Given the description of an element on the screen output the (x, y) to click on. 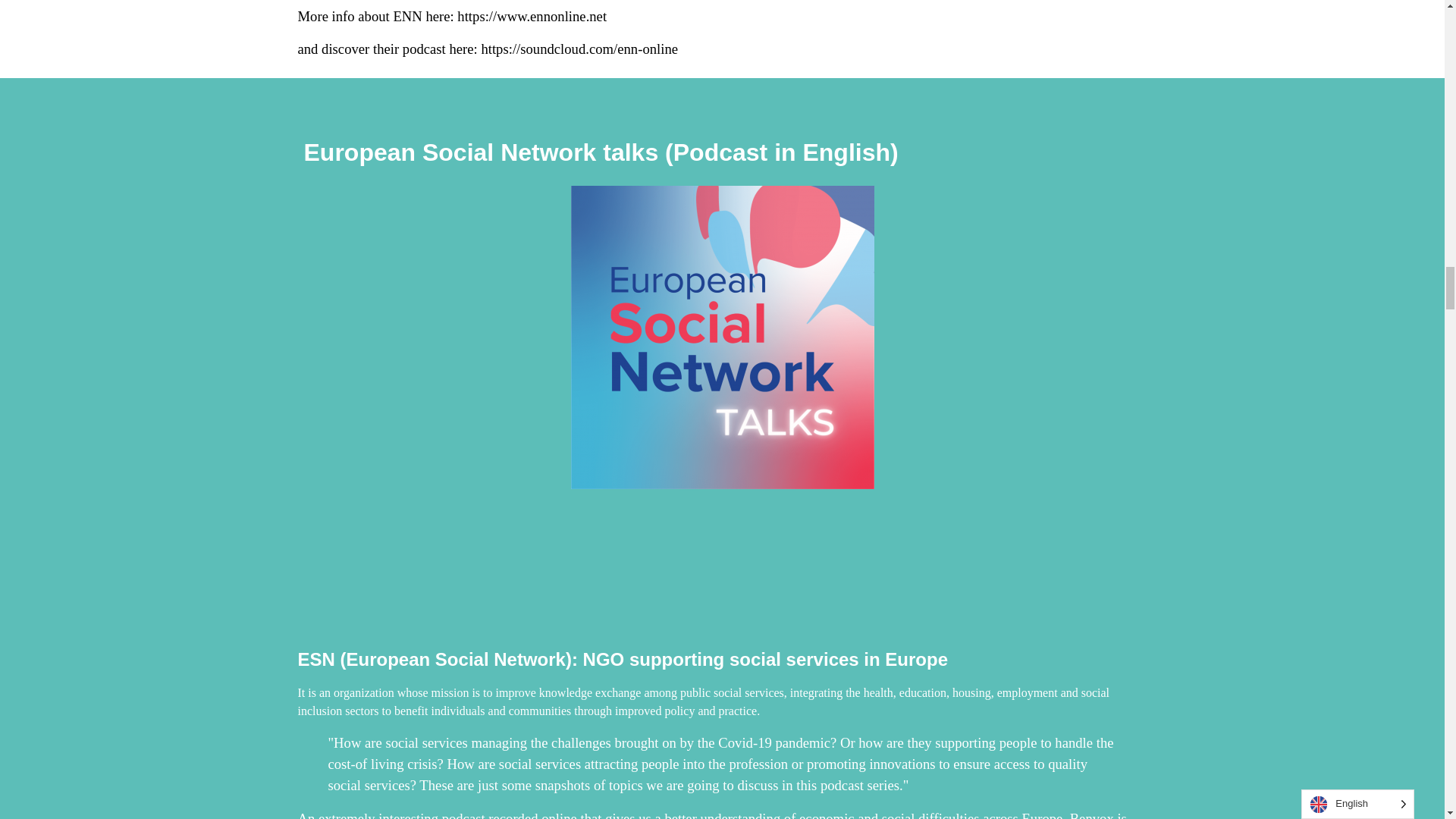
logo ESN talks (721, 336)
